Given the description of an element on the screen output the (x, y) to click on. 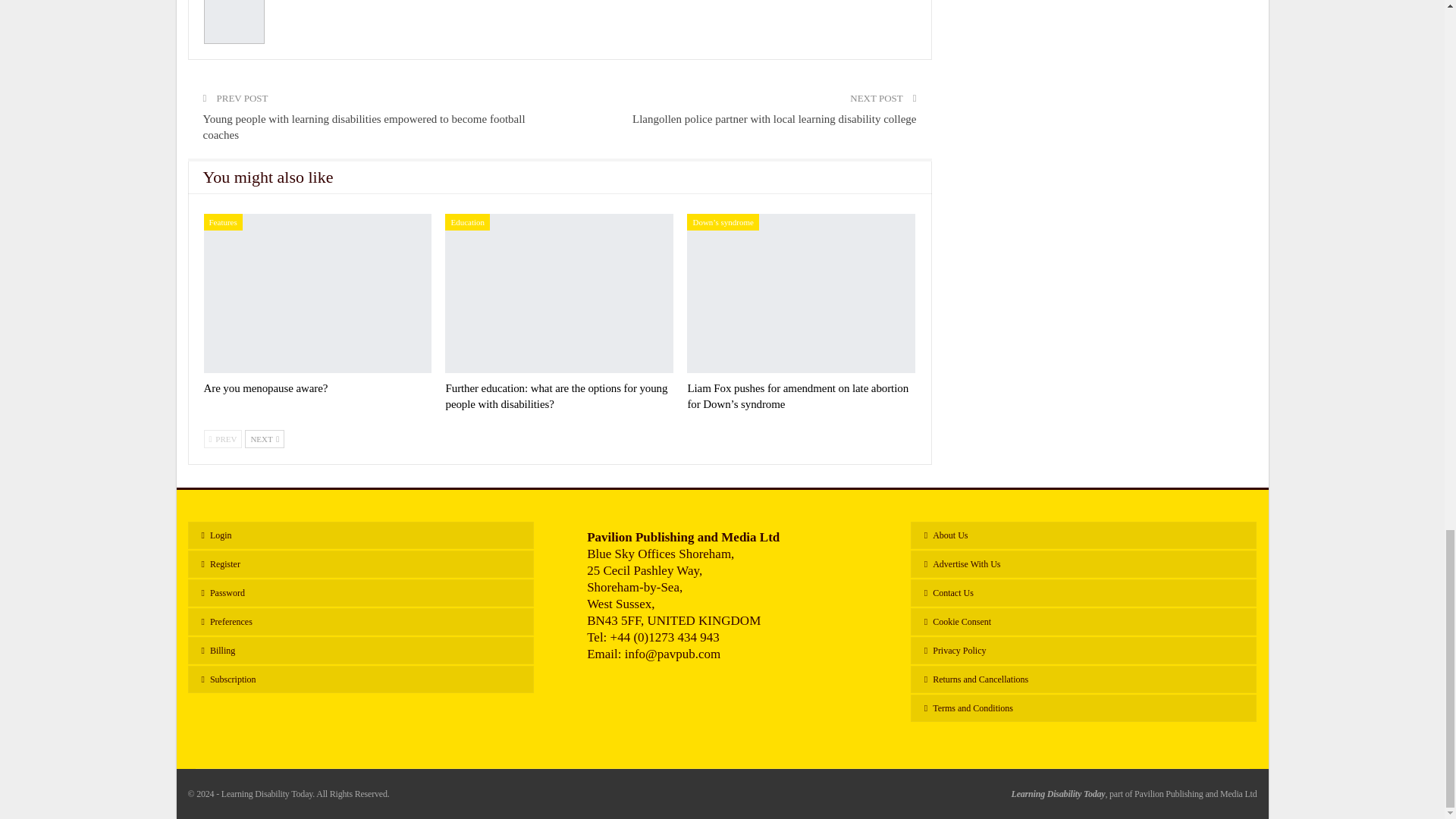
Are you menopause aware? (265, 387)
Are you menopause aware? (316, 293)
Next (263, 438)
Previous (222, 438)
